Given the description of an element on the screen output the (x, y) to click on. 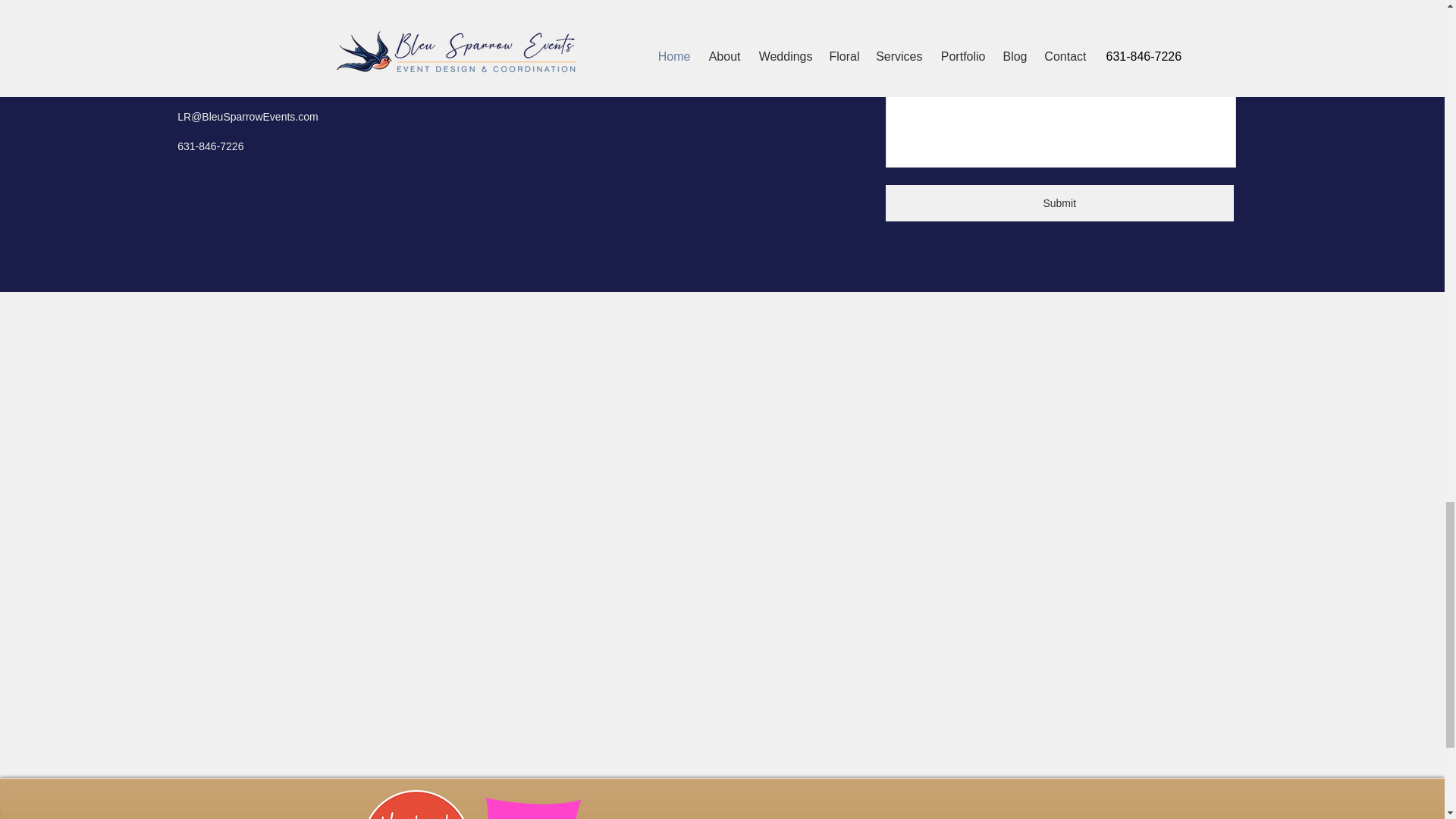
Submit (1059, 203)
